Given the description of an element on the screen output the (x, y) to click on. 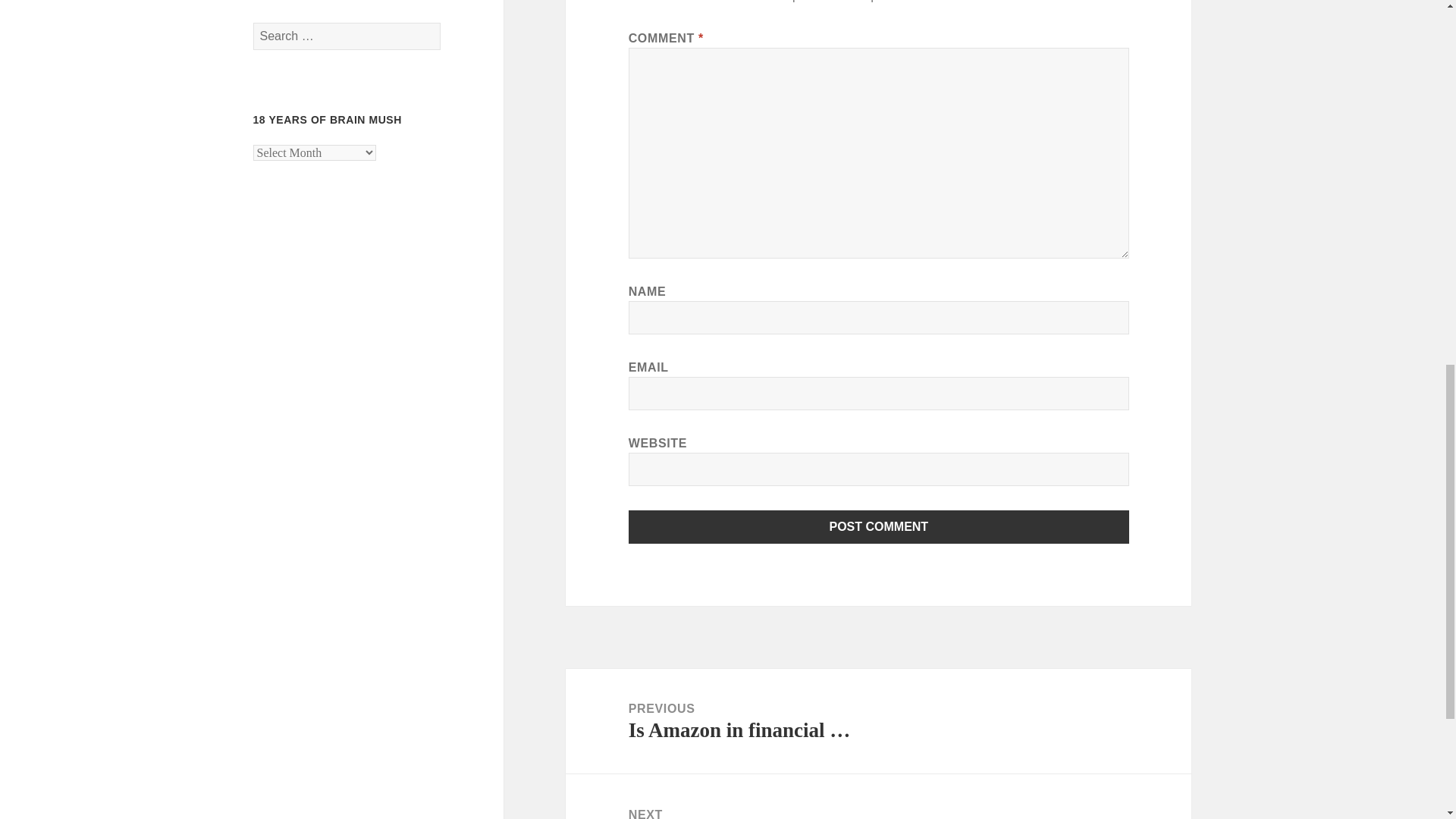
Post Comment (878, 526)
Post Comment (878, 526)
